Given the description of an element on the screen output the (x, y) to click on. 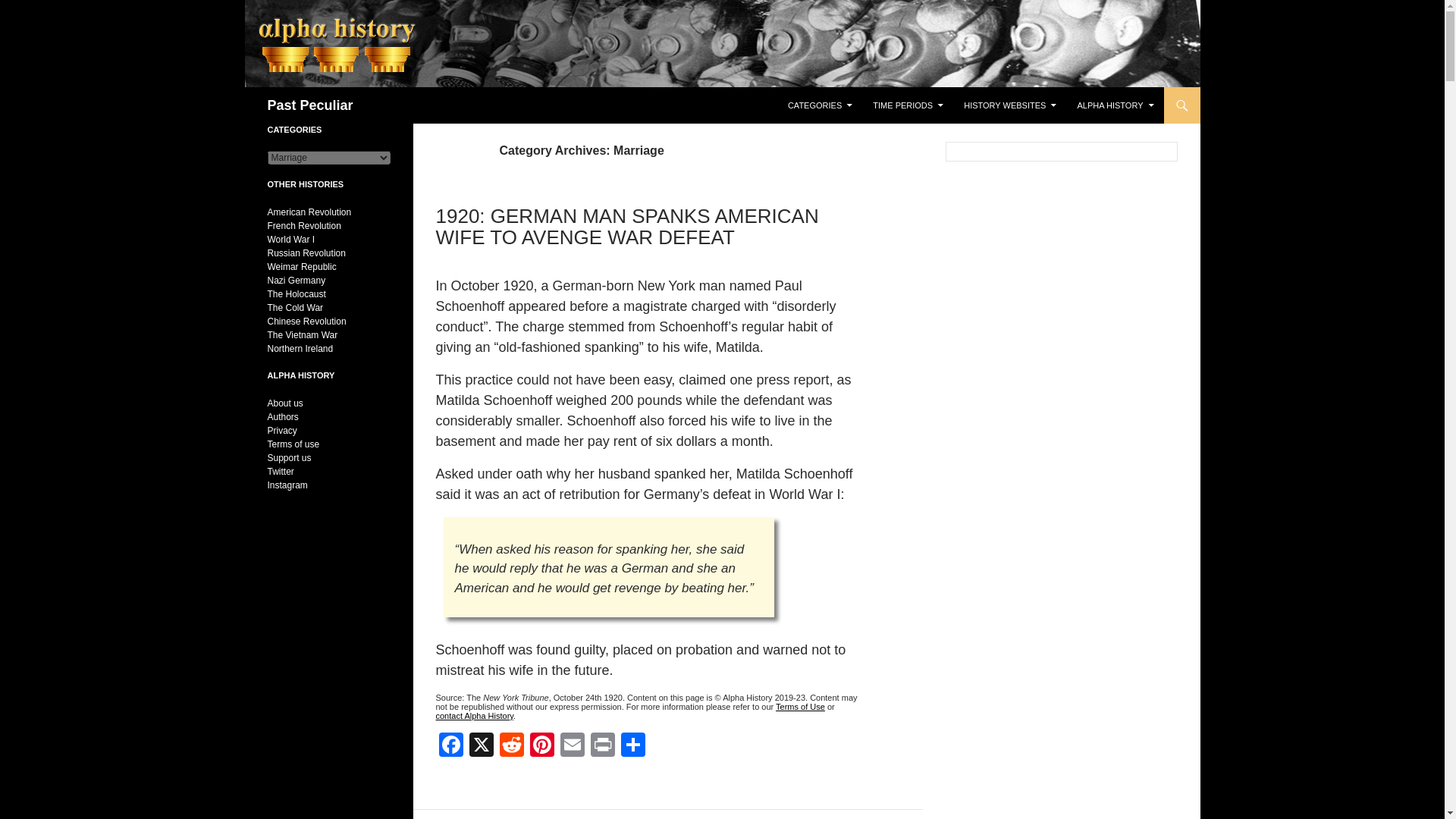
Pinterest (540, 746)
X (480, 746)
Past Peculiar (309, 105)
Email (571, 746)
Reddit (510, 746)
Facebook (450, 746)
CATEGORIES (819, 104)
Print (601, 746)
